Given the description of an element on the screen output the (x, y) to click on. 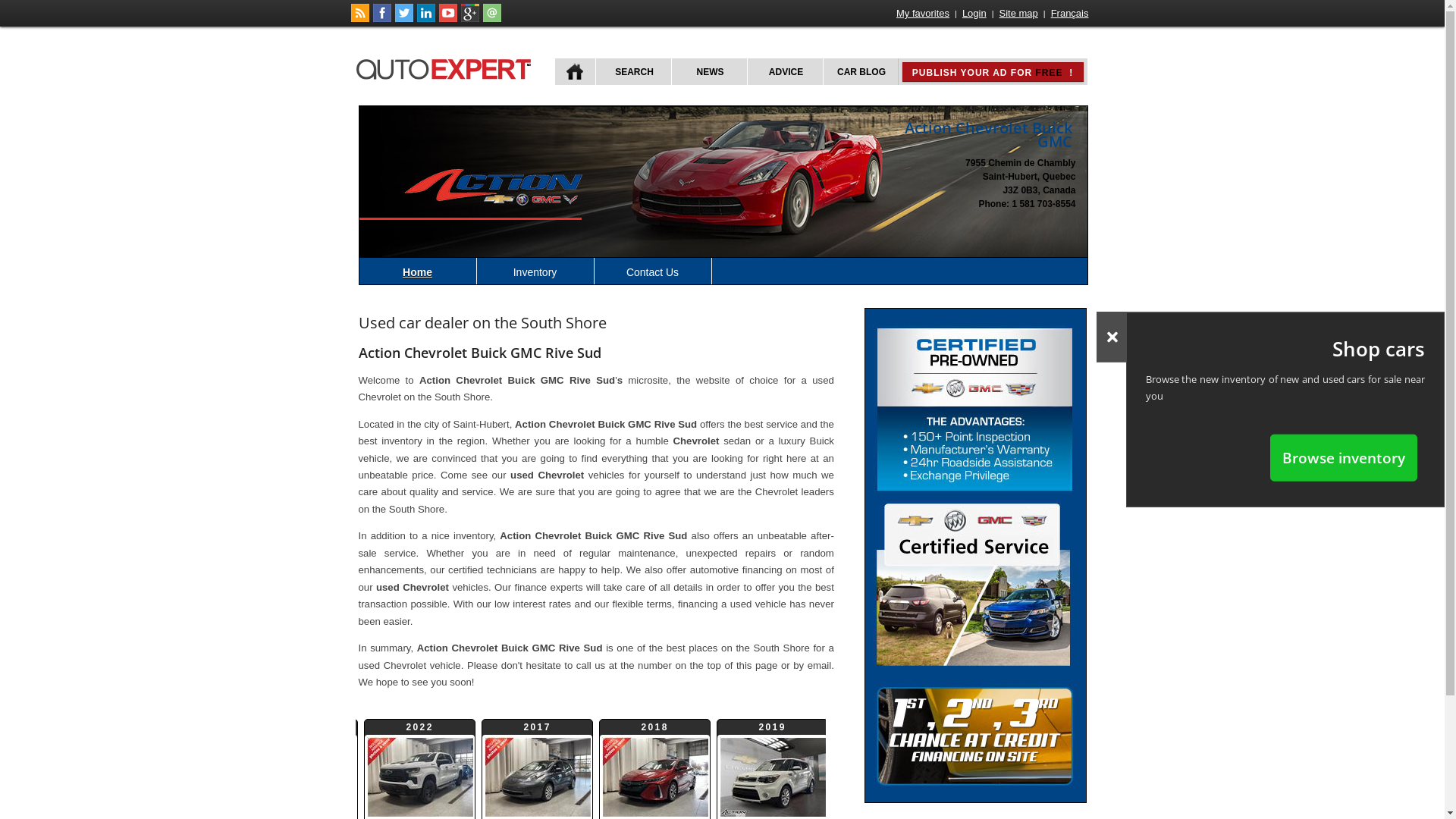
Browse inventory Element type: text (1343, 457)
Follow autoExpert.ca on Google Plus Element type: hover (470, 18)
CAR BLOG Element type: text (859, 71)
Login Element type: text (974, 13)
Contact Us Element type: text (653, 270)
Contact autoExpert.ca Element type: hover (491, 18)
autoExpert.ca Element type: text (446, 66)
Inventory Element type: text (534, 270)
ADVICE Element type: text (784, 71)
NEWS Element type: text (708, 71)
Follow autoExpert.ca on Facebook Element type: hover (382, 18)
PUBLISH YOUR AD FOR FREE  ! Element type: text (992, 71)
Follow autoExpert.ca on Twitter Element type: hover (403, 18)
Follow Publications Le Guide Inc. on LinkedIn Element type: hover (426, 18)
Home Element type: text (417, 270)
Site map Element type: text (1018, 13)
Follow car news on autoExpert.ca Element type: hover (359, 18)
Follow autoExpert.ca on Youtube Element type: hover (447, 18)
SEARCH Element type: text (632, 71)
My favorites Element type: text (922, 13)
HOME Element type: text (575, 71)
Financing available at Action Chevrolet Buick GMC Rive Sud Element type: hover (975, 735)
